Given the description of an element on the screen output the (x, y) to click on. 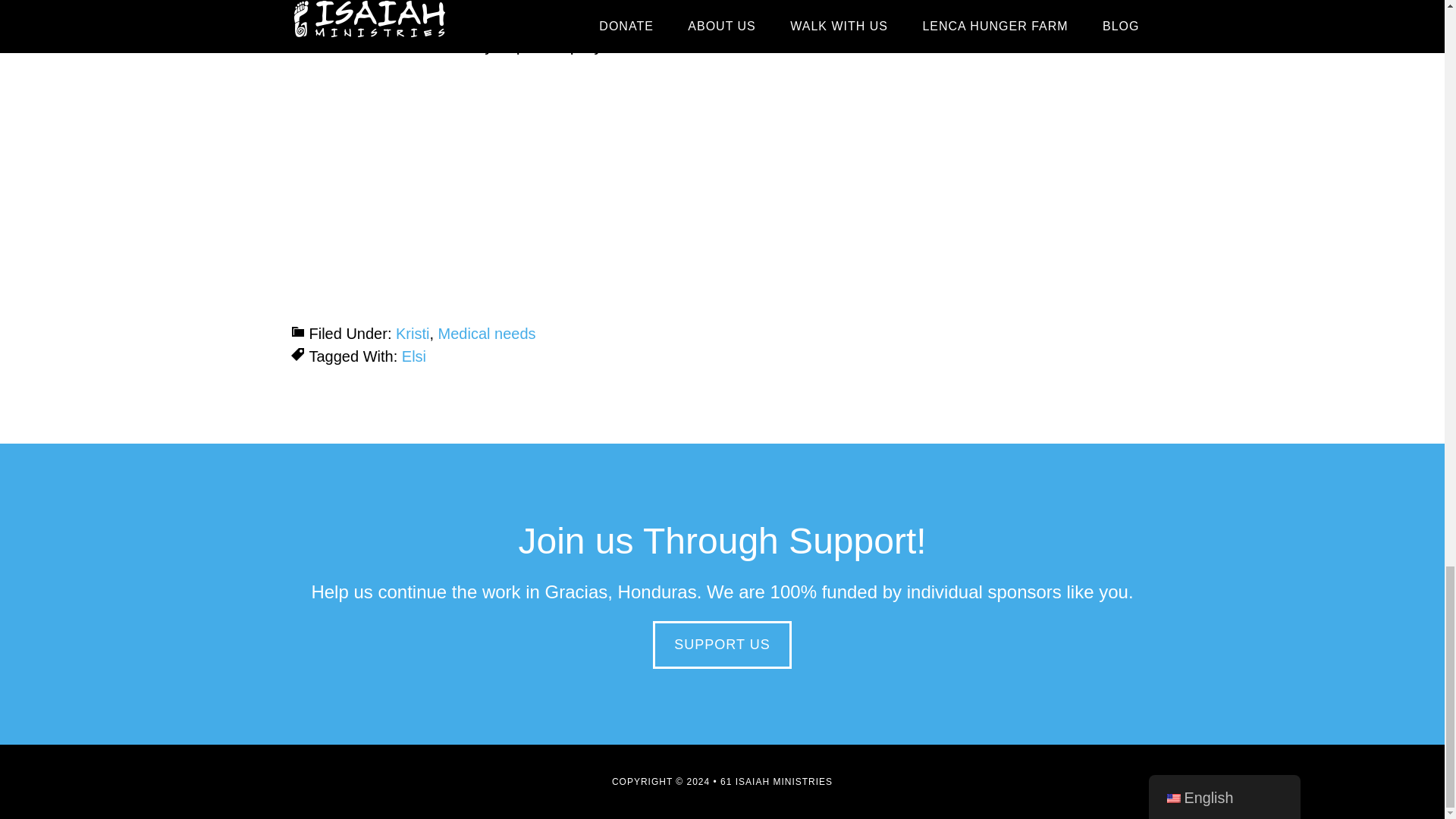
Elsi (413, 356)
Medical needs (486, 333)
Kristi (412, 333)
SUPPORT US (721, 644)
